Given the description of an element on the screen output the (x, y) to click on. 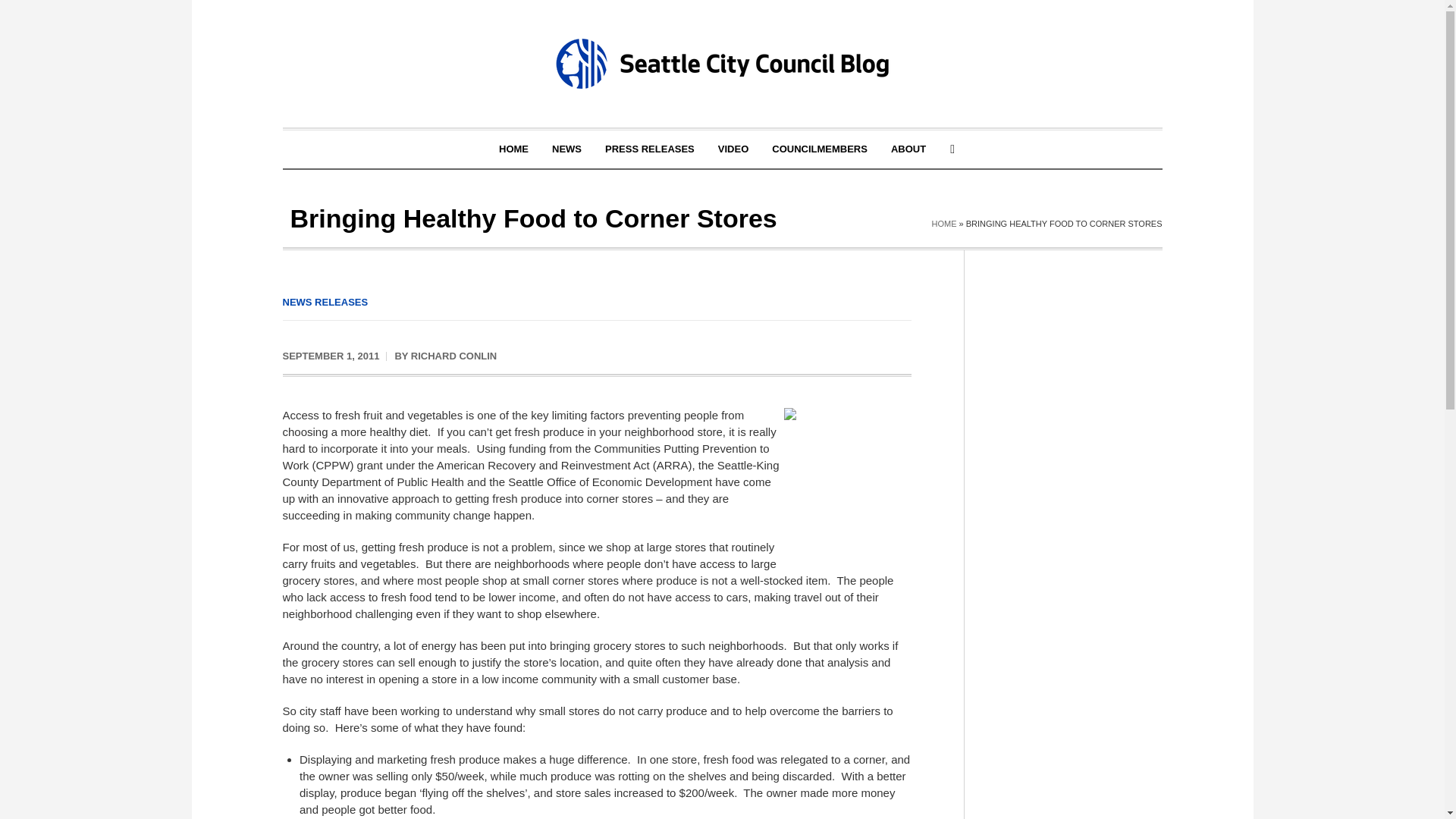
NEWS RELEASES (325, 301)
PRESS RELEASES (650, 149)
HOME (513, 149)
NEWS (566, 149)
RICHARD CONLIN (453, 355)
VIDEO (733, 149)
ABOUT (908, 149)
Posts by Richard Conlin (453, 355)
COUNCILMEMBERS (819, 149)
September 1, 2011 (330, 356)
